Given the description of an element on the screen output the (x, y) to click on. 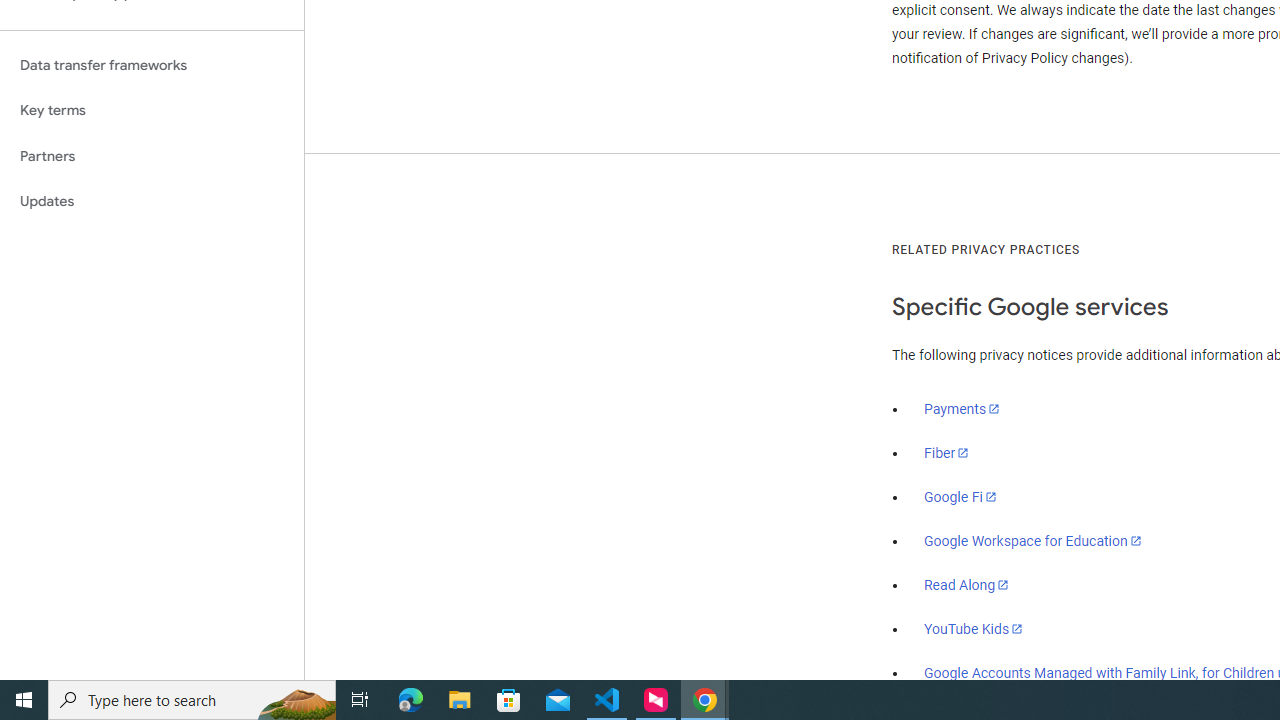
Partners (152, 156)
Read Along (966, 585)
Google Workspace for Education (1032, 541)
YouTube Kids (974, 628)
Key terms (152, 110)
Google Fi (960, 497)
Payments (962, 409)
Data transfer frameworks (152, 65)
Fiber (947, 453)
